Given the description of an element on the screen output the (x, y) to click on. 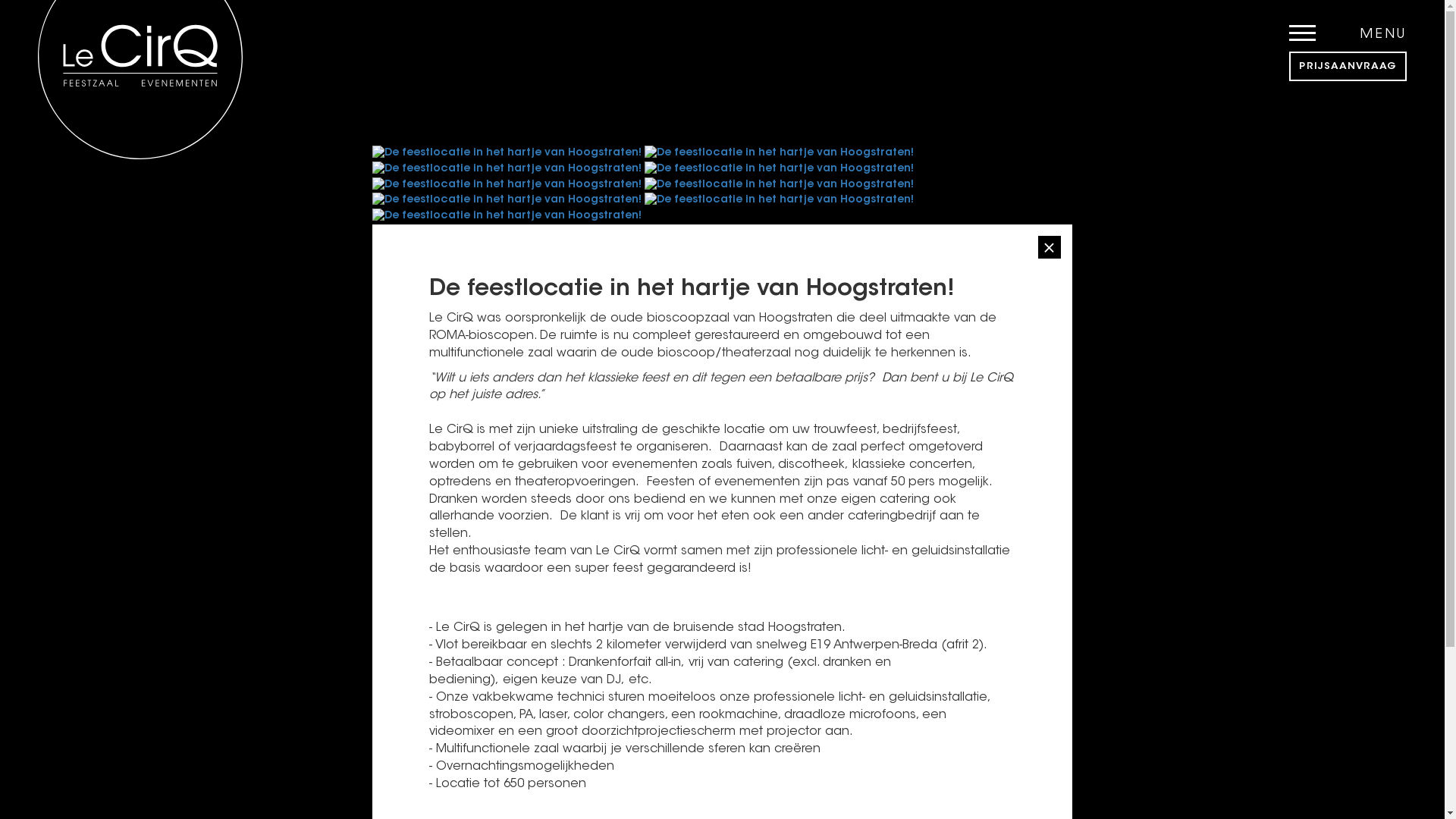
PRIJSAANVRAAG Element type: text (1347, 66)
MENU Element type: text (1347, 22)
